Given the description of an element on the screen output the (x, y) to click on. 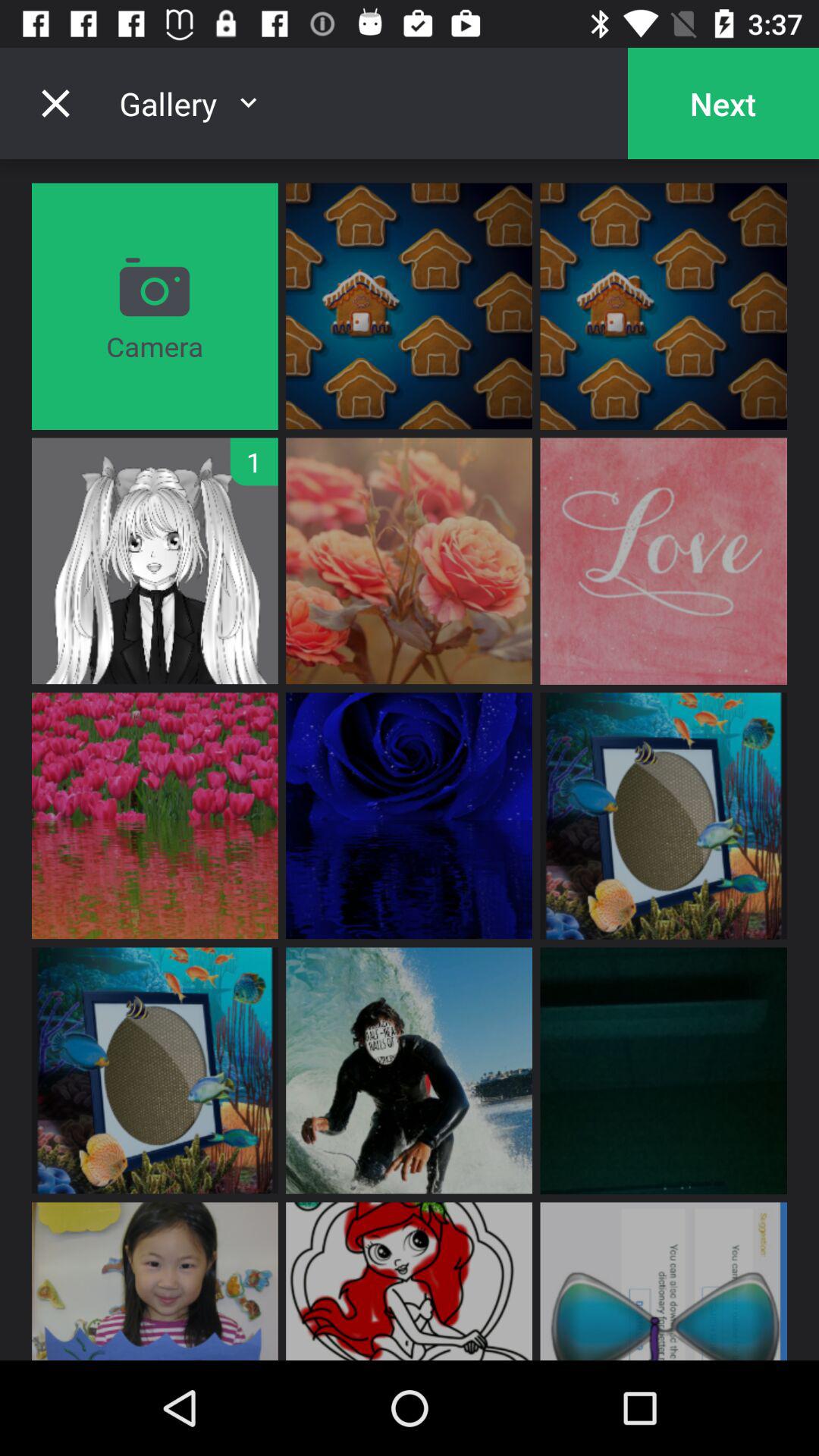
exit out of gallery (55, 103)
